Given the description of an element on the screen output the (x, y) to click on. 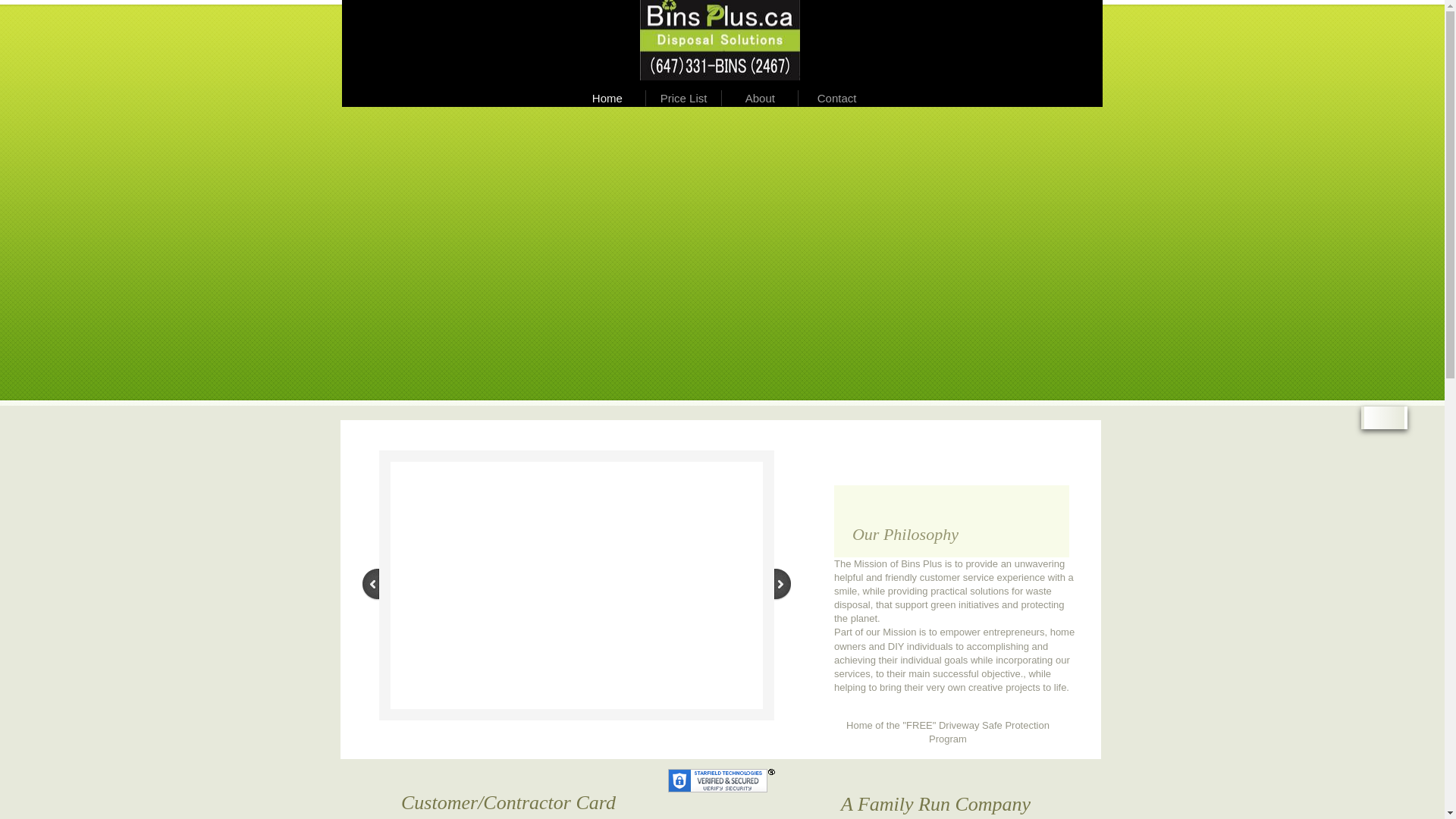
Our Philosophy Element type: text (951, 521)
Price List Element type: text (683, 97)
Contact Element type: text (837, 97)
About Element type: text (760, 97)
Home Element type: text (606, 97)
